Given the description of an element on the screen output the (x, y) to click on. 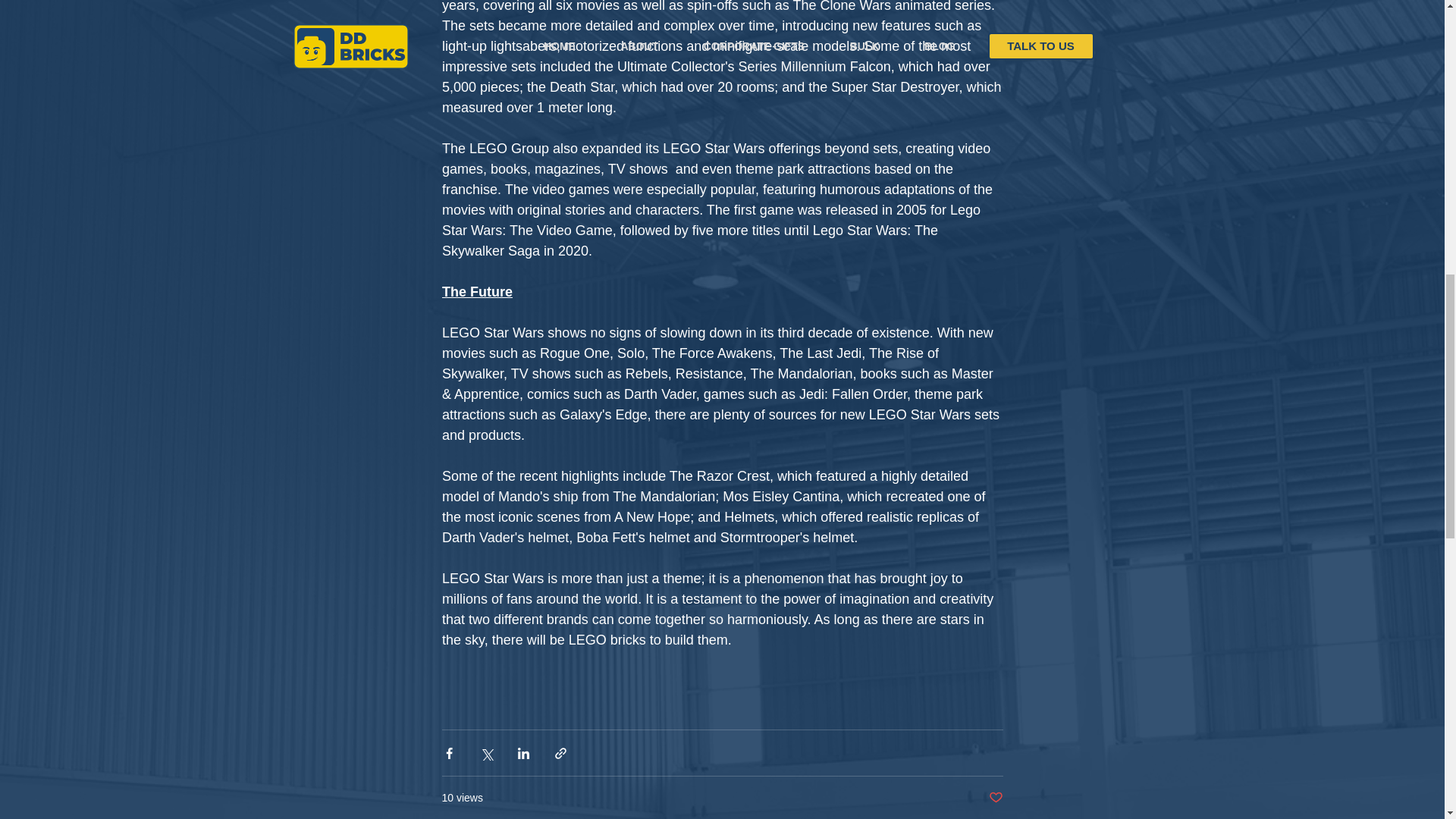
Post not marked as liked (995, 797)
